Given the description of an element on the screen output the (x, y) to click on. 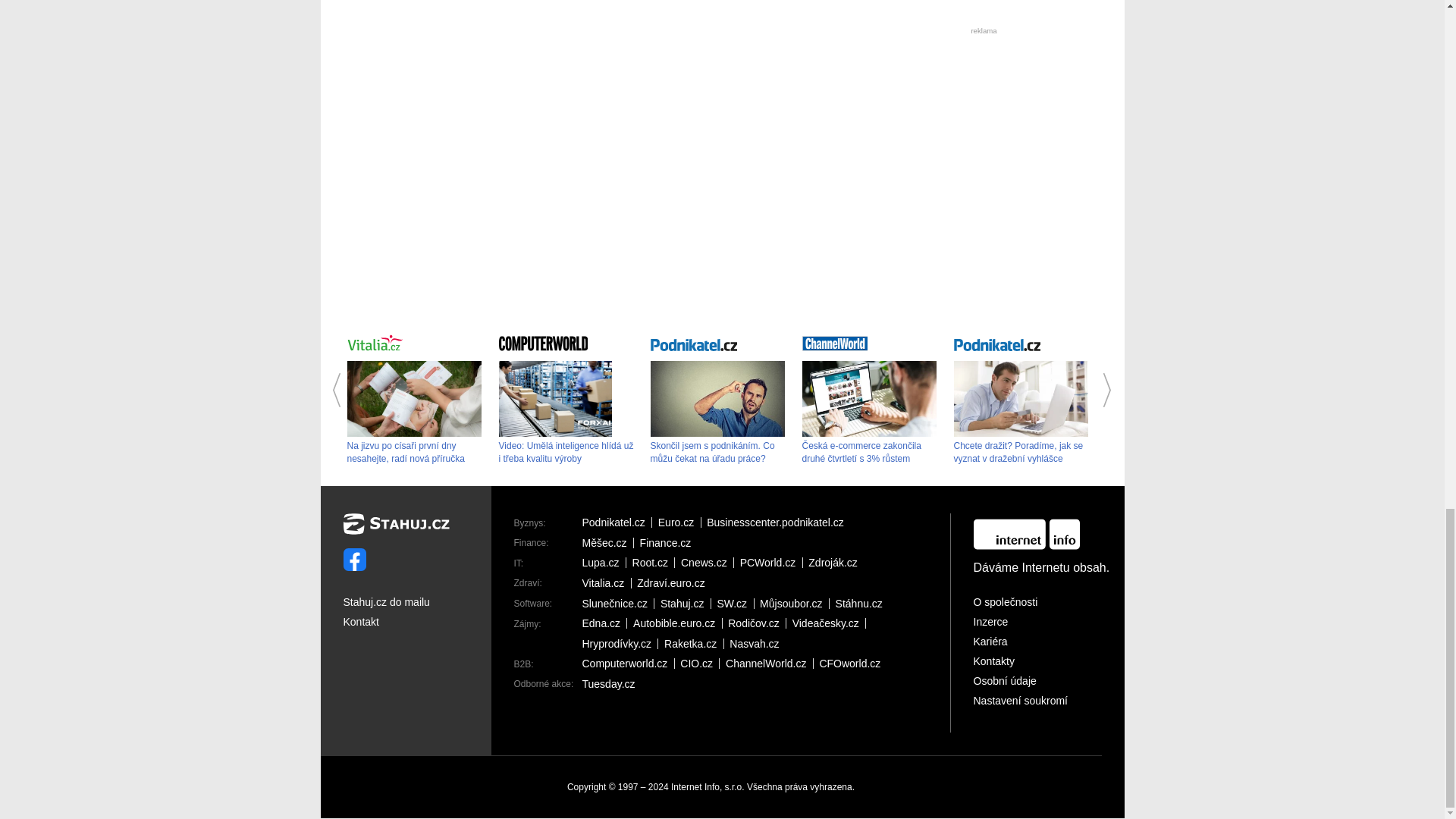
Cnews.cz (707, 562)
businesscenter.podnikatel.cz (778, 521)
Finance.cz (668, 542)
Euro.cz (679, 521)
